Given the description of an element on the screen output the (x, y) to click on. 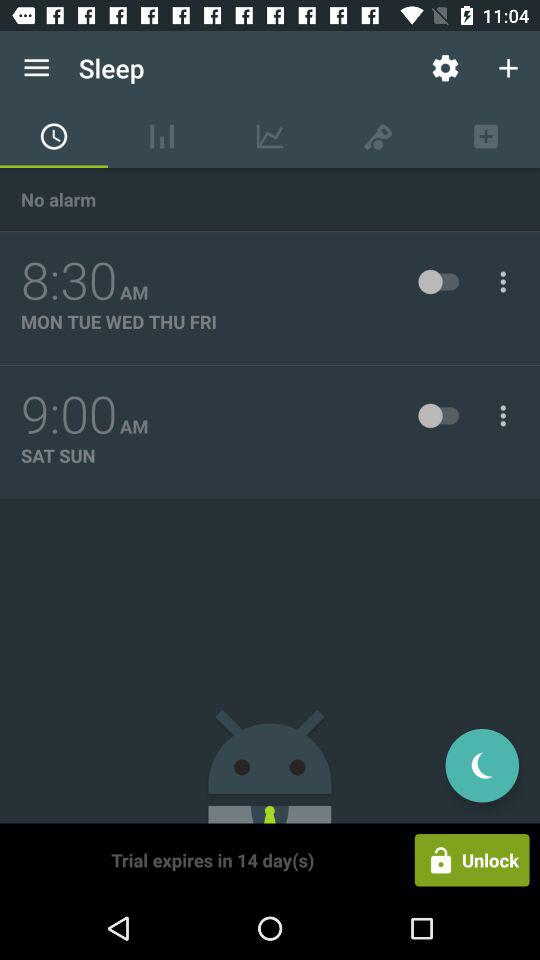
set night mode (482, 765)
